Given the description of an element on the screen output the (x, y) to click on. 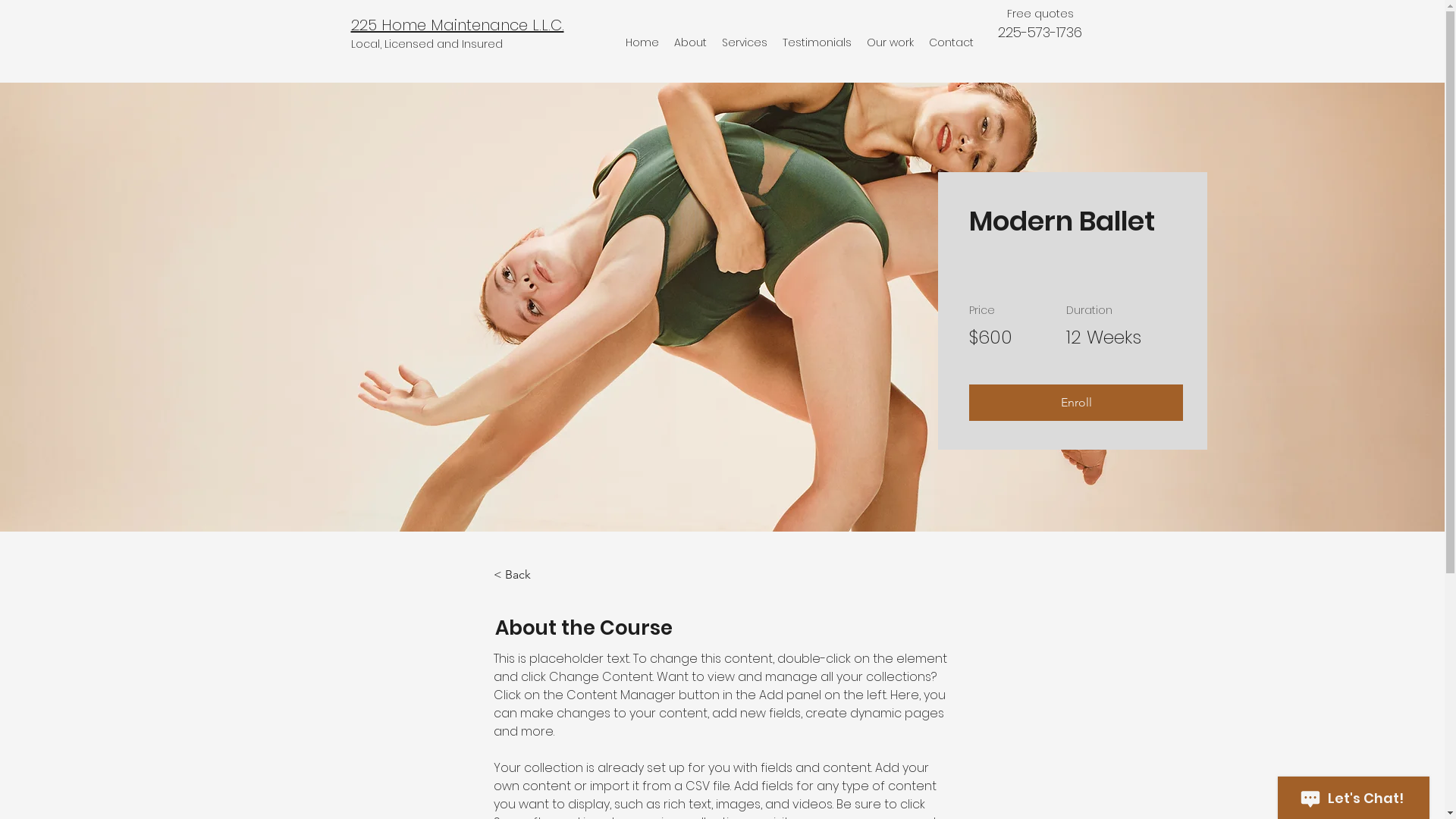
Our work Element type: text (889, 42)
Contact Element type: text (950, 42)
< Back Element type: text (534, 574)
About Element type: text (689, 42)
Home Element type: text (641, 42)
225 Home Maintenance L.L.C. Element type: text (456, 24)
Testimonials Element type: text (817, 42)
Services Element type: text (744, 42)
